Given the description of an element on the screen output the (x, y) to click on. 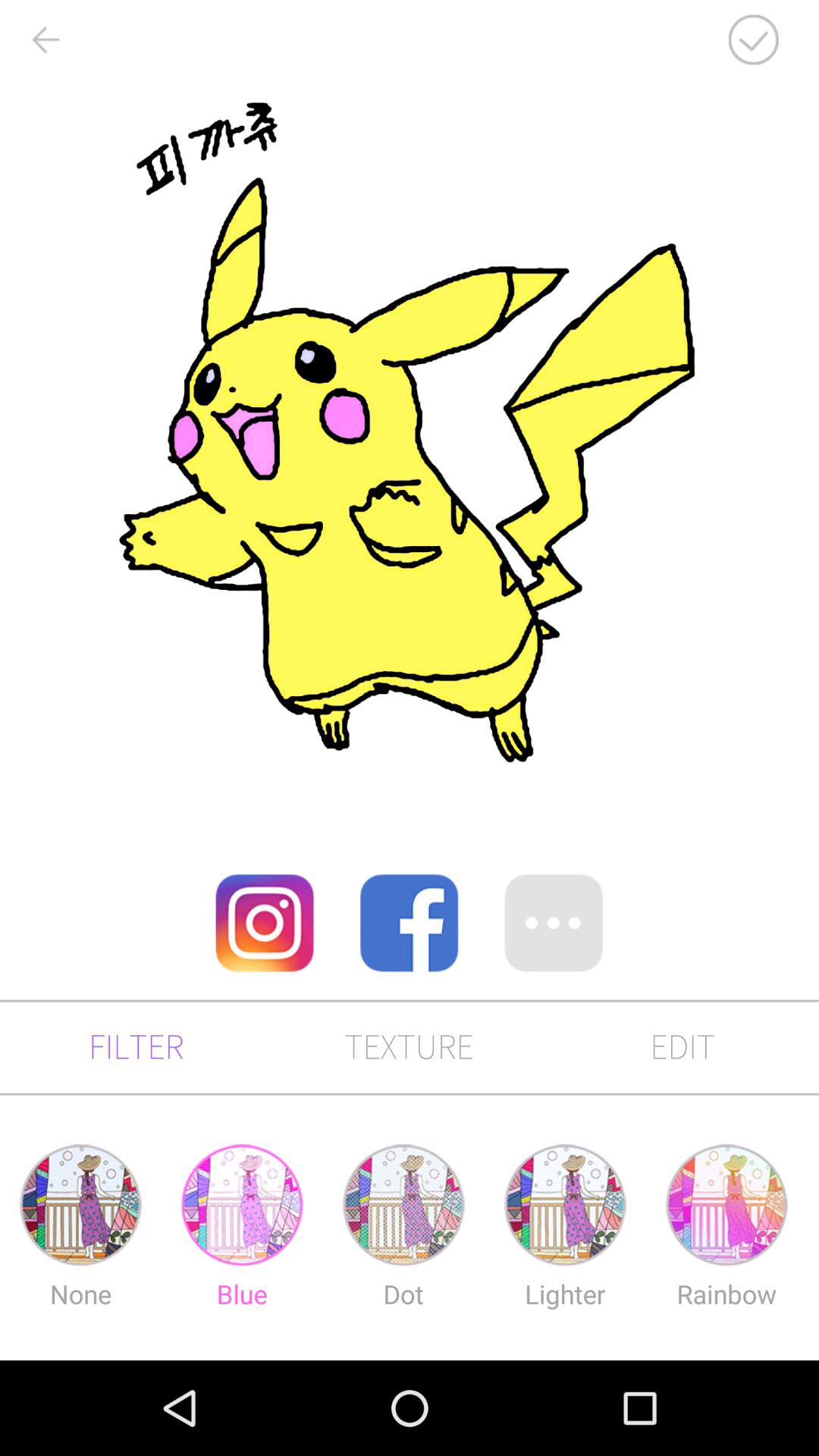
open facebook (409, 922)
